Given the description of an element on the screen output the (x, y) to click on. 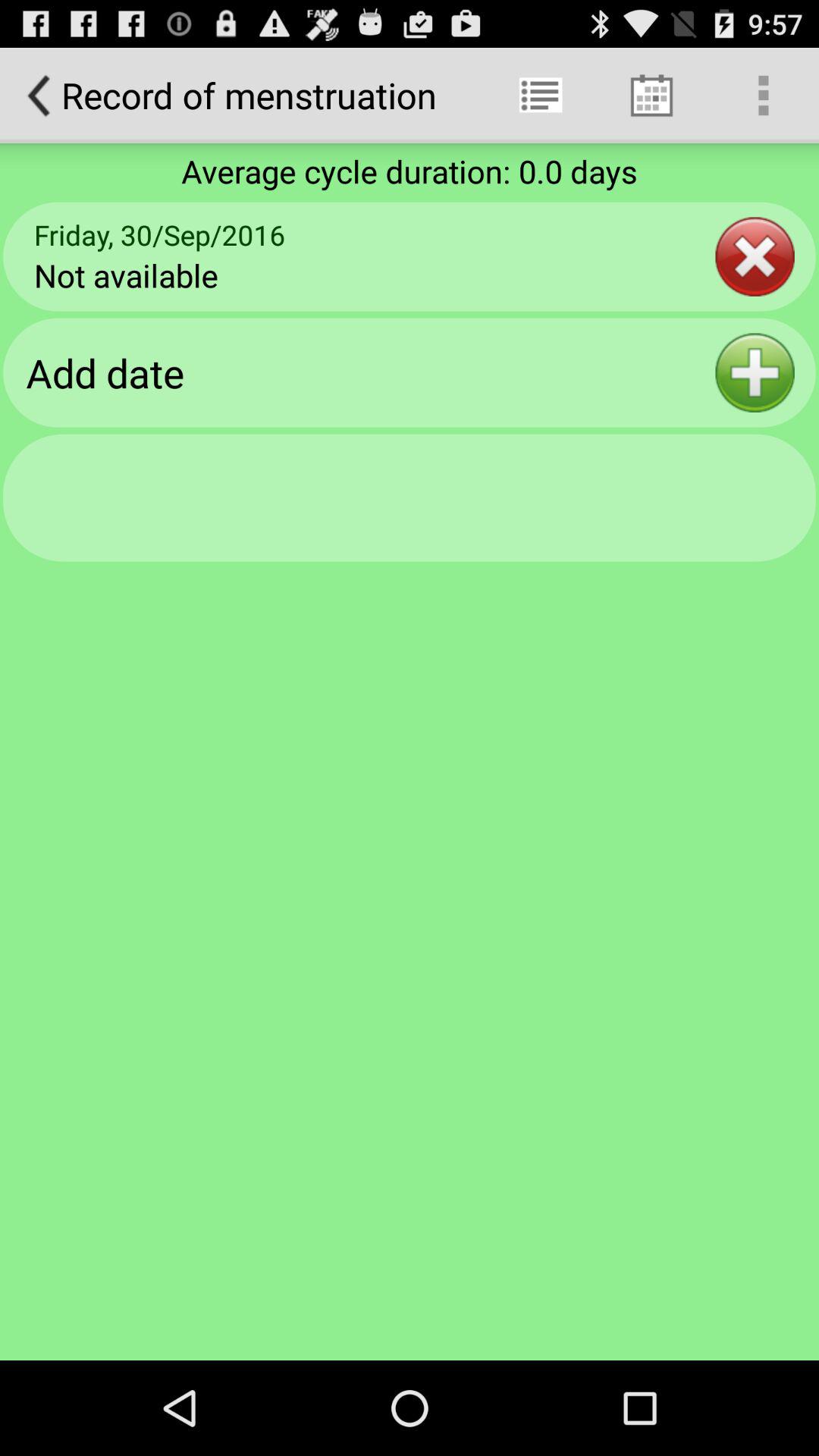
press item to the right of record of menstruation (540, 95)
